Given the description of an element on the screen output the (x, y) to click on. 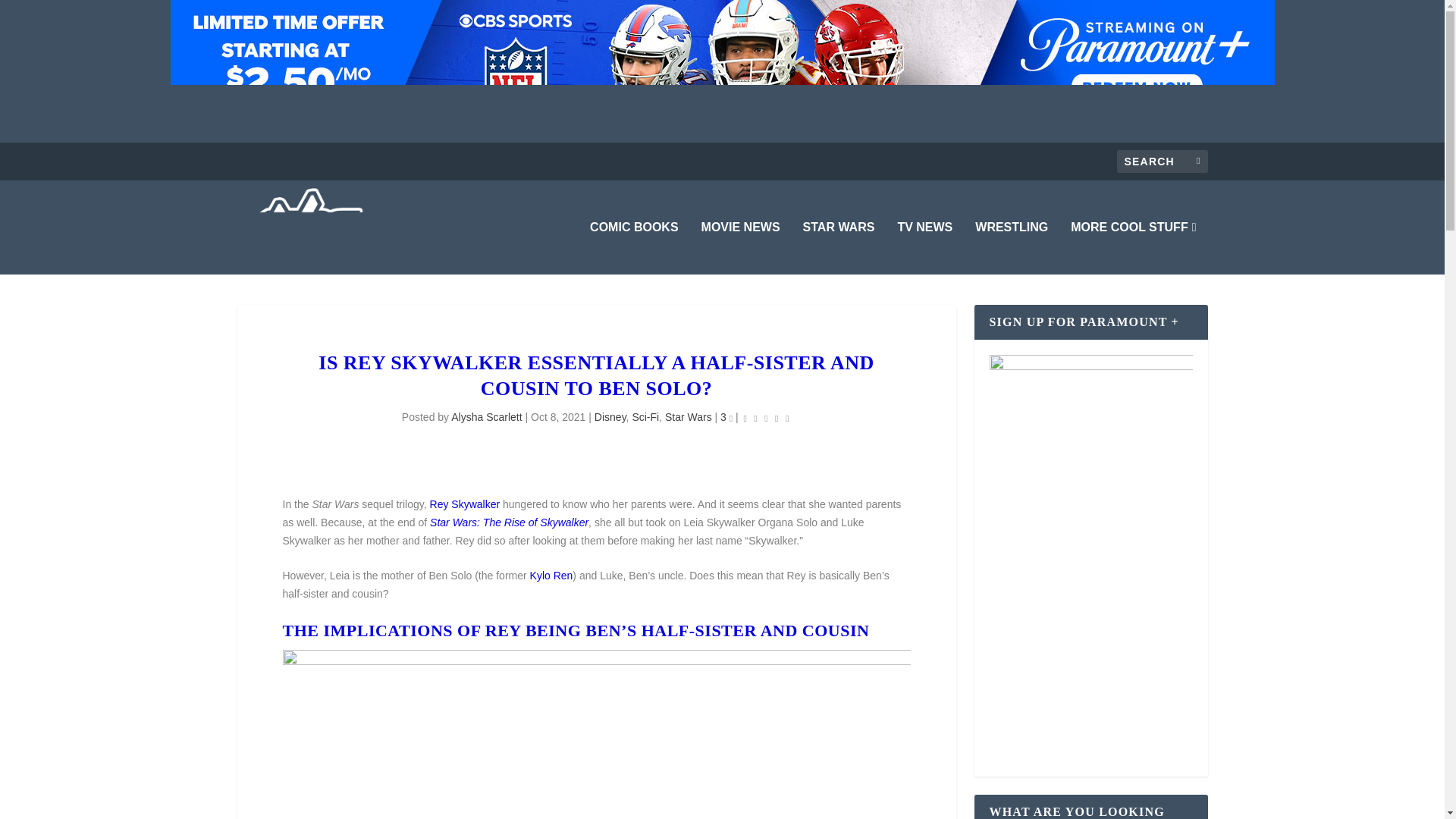
Star Wars (688, 417)
Disney (610, 417)
Sci-Fi (645, 417)
Star Wars: The Rise of Skywalker (508, 522)
Rey Skywalker (464, 503)
Search for: (1161, 160)
COMIC BOOKS (633, 247)
Rating: 5.00 (766, 417)
Kylo Ren (551, 575)
STAR WARS (839, 247)
